Given the description of an element on the screen output the (x, y) to click on. 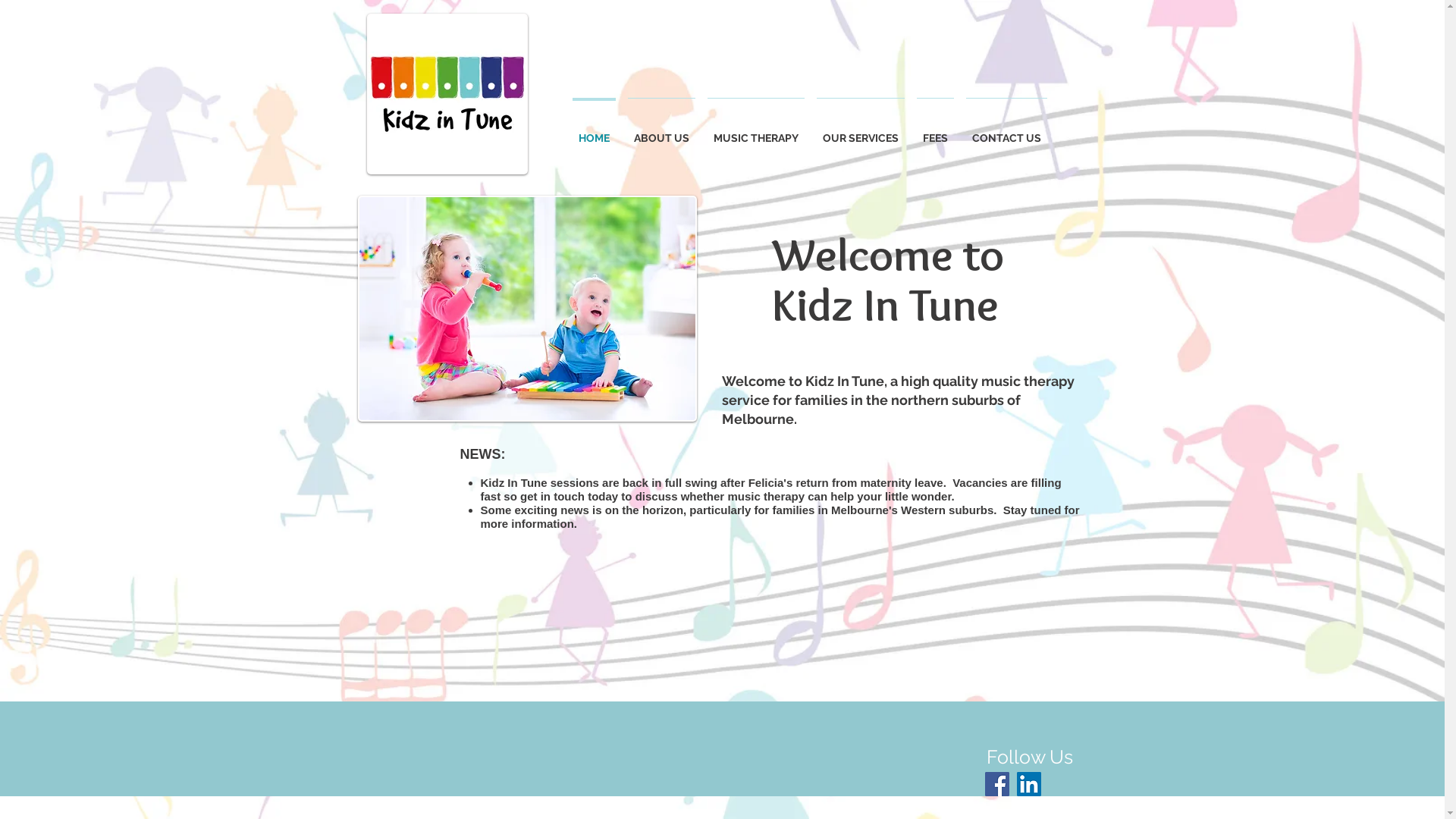
ABOUT US Element type: text (661, 131)
MUSIC THERAPY Element type: text (755, 131)
logo.jpg Element type: hover (447, 93)
OUR SERVICES Element type: text (860, 131)
CONTACT US Element type: text (1006, 131)
HOME Element type: text (593, 131)
FEES Element type: text (935, 131)
